Given the description of an element on the screen output the (x, y) to click on. 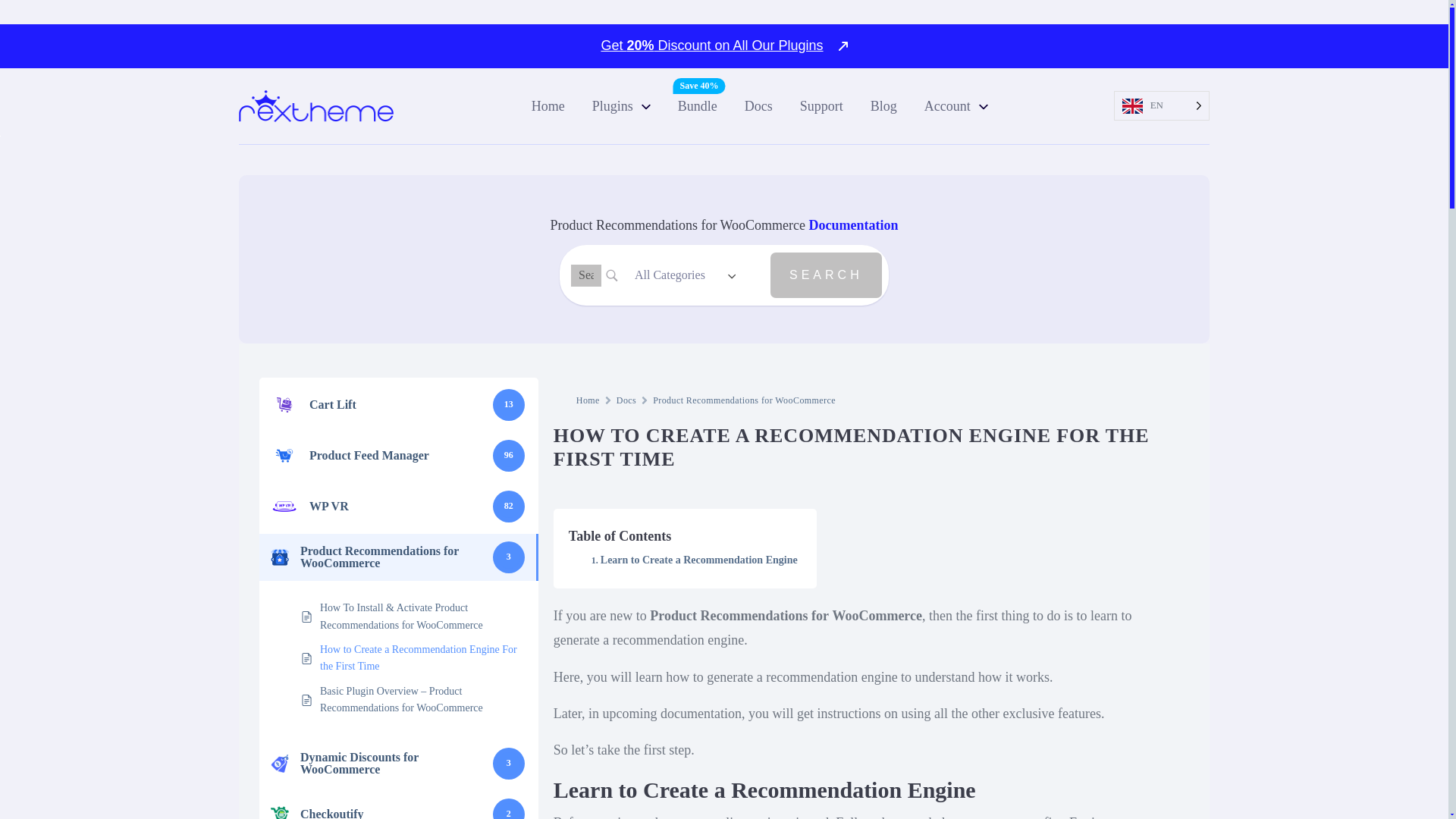
Search (826, 275)
Search (826, 275)
Search (826, 275)
